Given the description of an element on the screen output the (x, y) to click on. 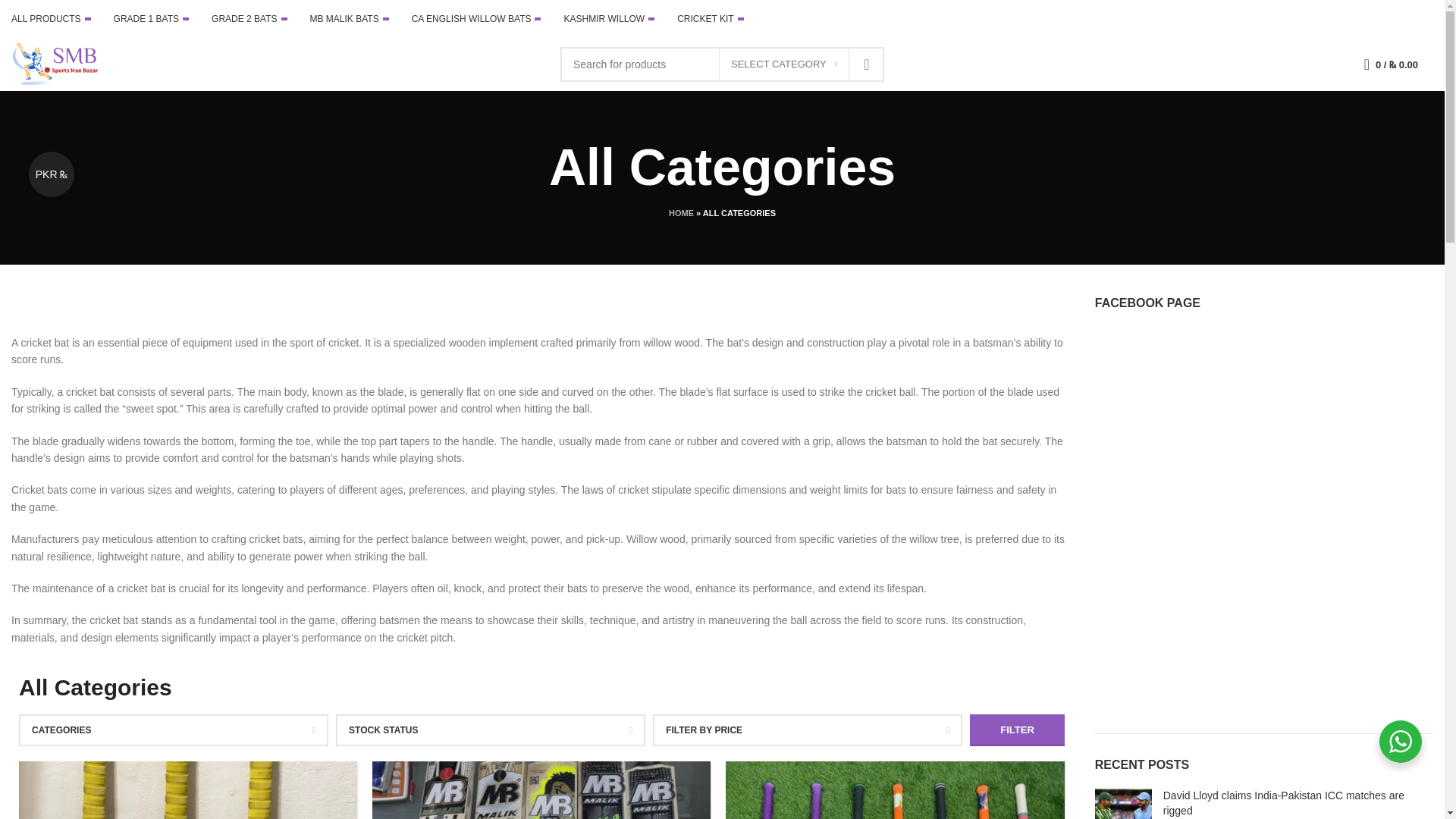
All Categories (187, 789)
KASHMIR WILLOW (608, 19)
All Categories (894, 789)
SEARCH (865, 63)
CRICKET KIT (709, 19)
MB MALIK BATS (349, 19)
SELECT CATEGORY (783, 64)
Search for products (721, 63)
CA ENGLISH WILLOW BATS (476, 19)
HOME (681, 212)
GRADE 2 BATS (248, 19)
FILTER (1016, 730)
David Lloyd claims India-Pakistan ICC matches are rigged (1122, 803)
All Categories (541, 789)
